Given the description of an element on the screen output the (x, y) to click on. 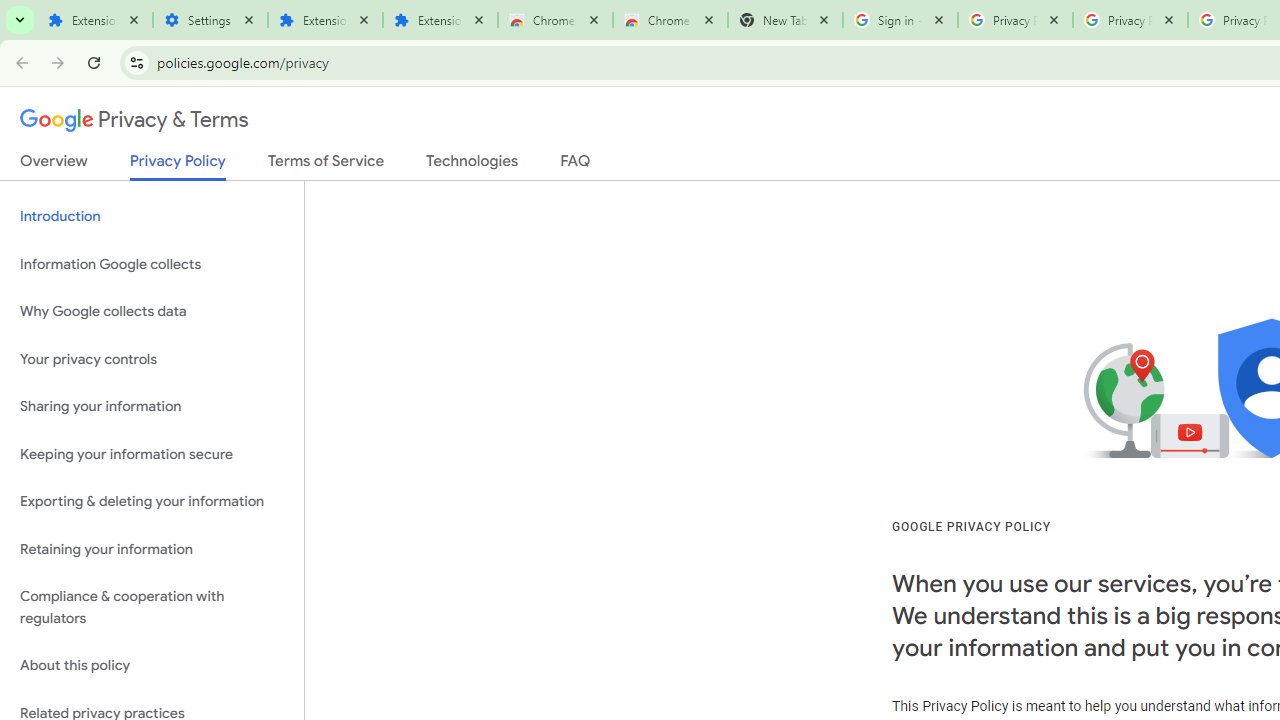
Introduction (152, 216)
Sharing your information (152, 407)
Extensions (439, 20)
